Given the description of an element on the screen output the (x, y) to click on. 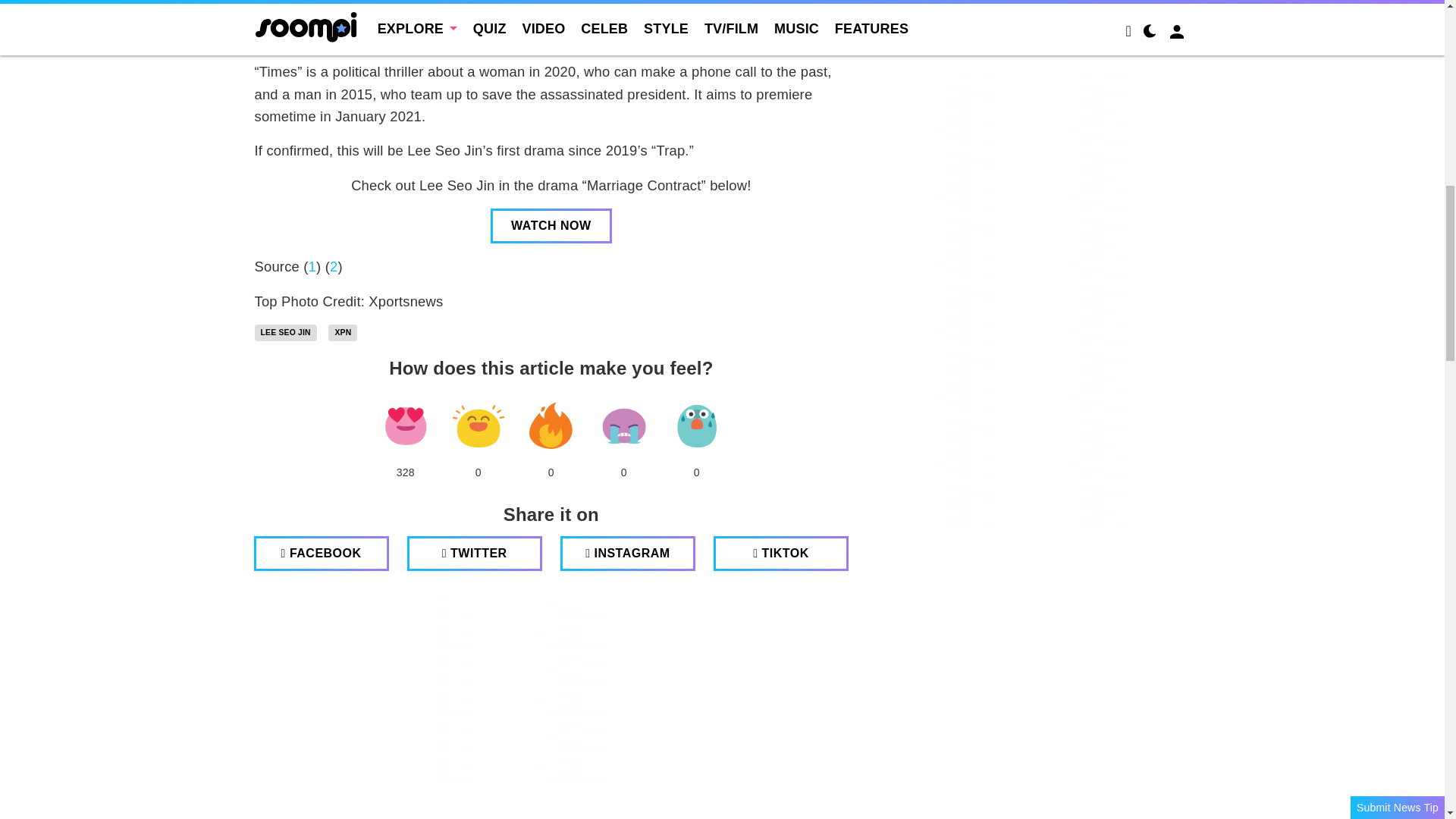
Fire (550, 425)
Lee Seo Jin (285, 332)
LOL (478, 425)
Crying (623, 425)
LEE SEO JIN (285, 332)
XPN (342, 332)
lol (478, 425)
XPN (342, 332)
Heart (405, 425)
fire (550, 425)
3rd party ad content (551, 689)
OMG (696, 425)
heart (405, 425)
WATCH NOW (550, 225)
omg (696, 425)
